Given the description of an element on the screen output the (x, y) to click on. 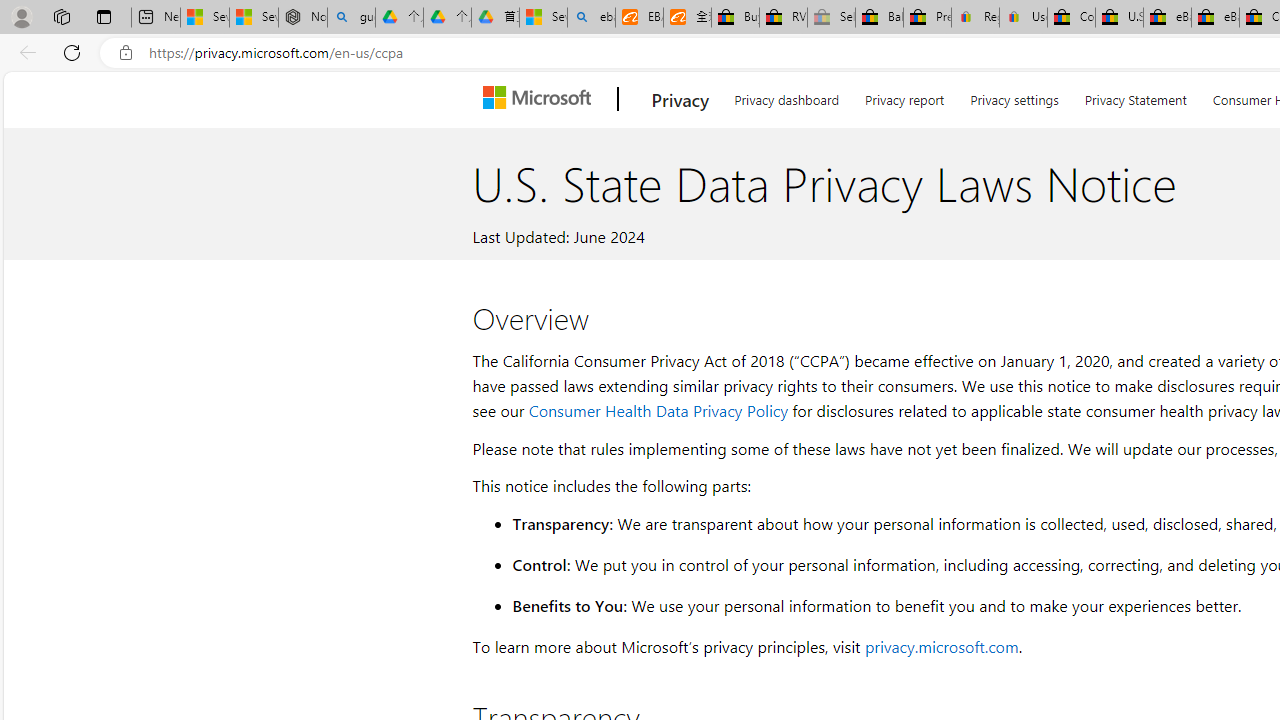
guge yunpan - Search (351, 17)
Refresh (72, 52)
eBay Inc. Reports Third Quarter 2023 Results (1215, 17)
Privacy report (904, 96)
Privacy Statement (1135, 96)
Buy Auto Parts & Accessories | eBay (735, 17)
